Given the description of an element on the screen output the (x, y) to click on. 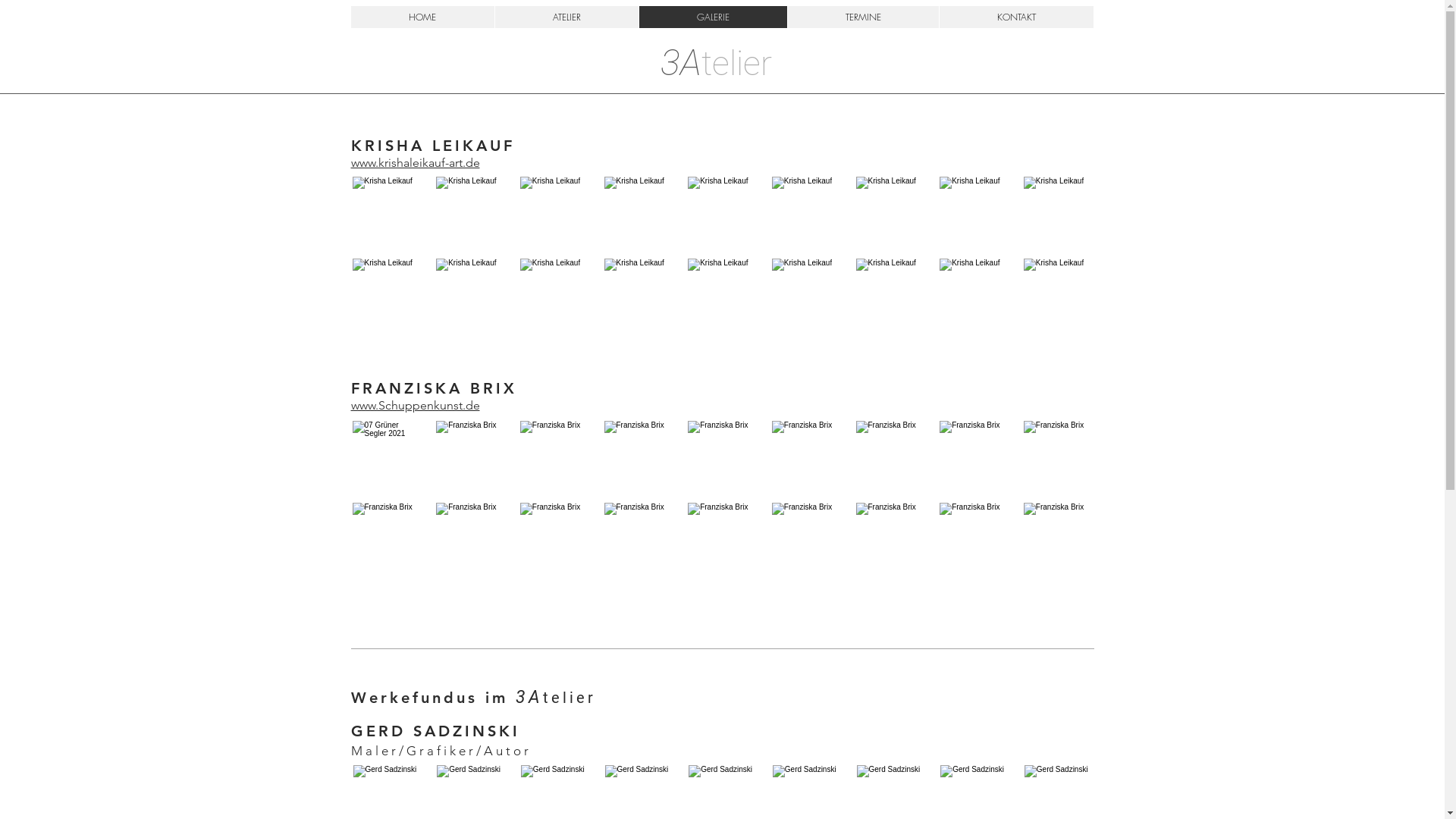
3Atelier Element type: text (715, 63)
KONTAKT Element type: text (1015, 17)
www.krishaleikauf-art.de Element type: text (414, 163)
GALERIE Element type: text (712, 17)
ATELIER Element type: text (566, 17)
www.Schuppenkunst.de Element type: text (414, 406)
HOME Element type: text (421, 17)
TERMINE Element type: text (862, 17)
